Given the description of an element on the screen output the (x, y) to click on. 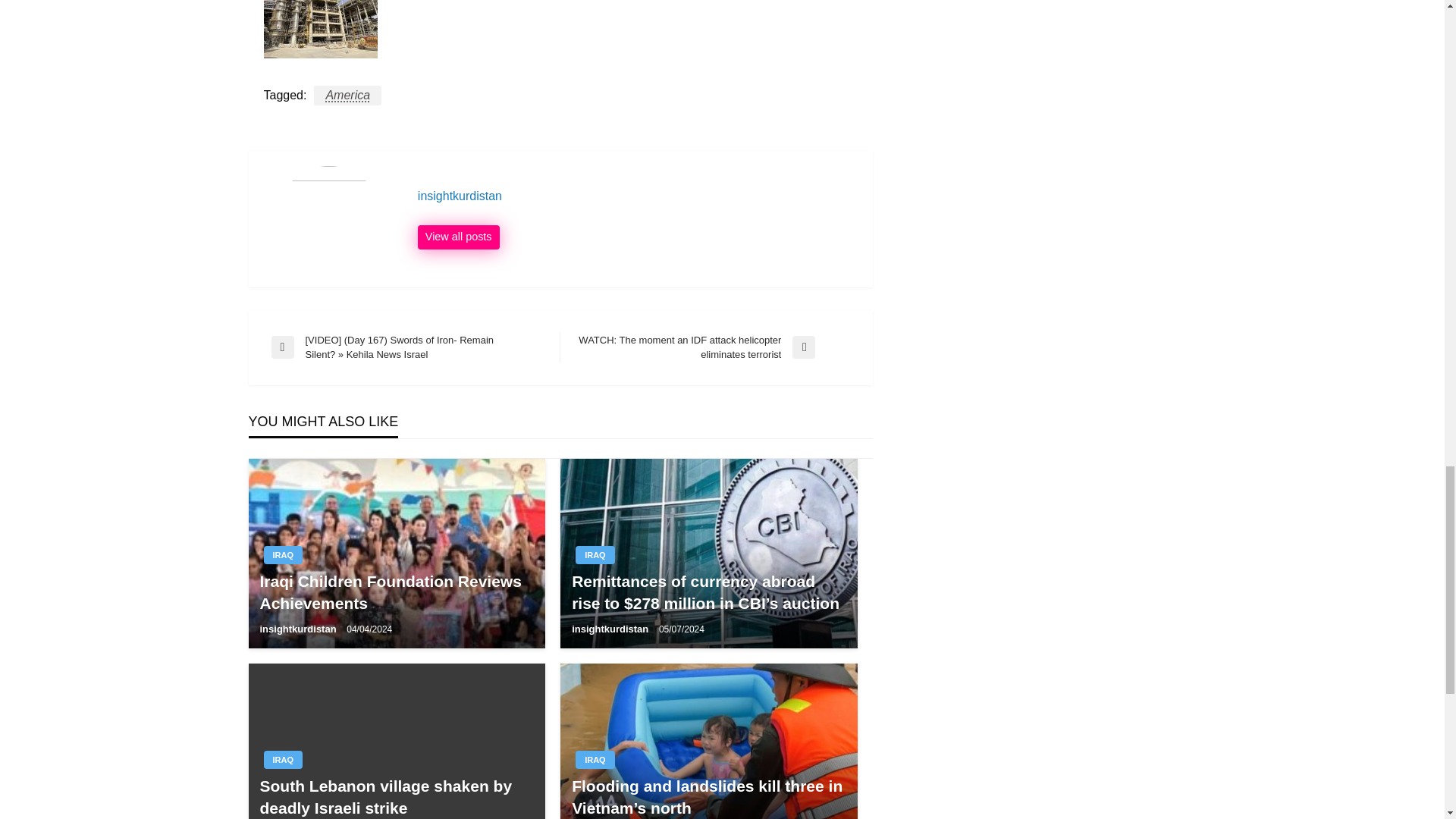
IRAQ (282, 555)
insightkurdistan (637, 196)
insightkurdistan (299, 628)
America (347, 95)
Iraqi Children Foundation Reviews Achievements (396, 592)
IRAQ (594, 555)
View all posts (458, 237)
insightkurdistan (458, 237)
insightkurdistan (637, 196)
